Given the description of an element on the screen output the (x, y) to click on. 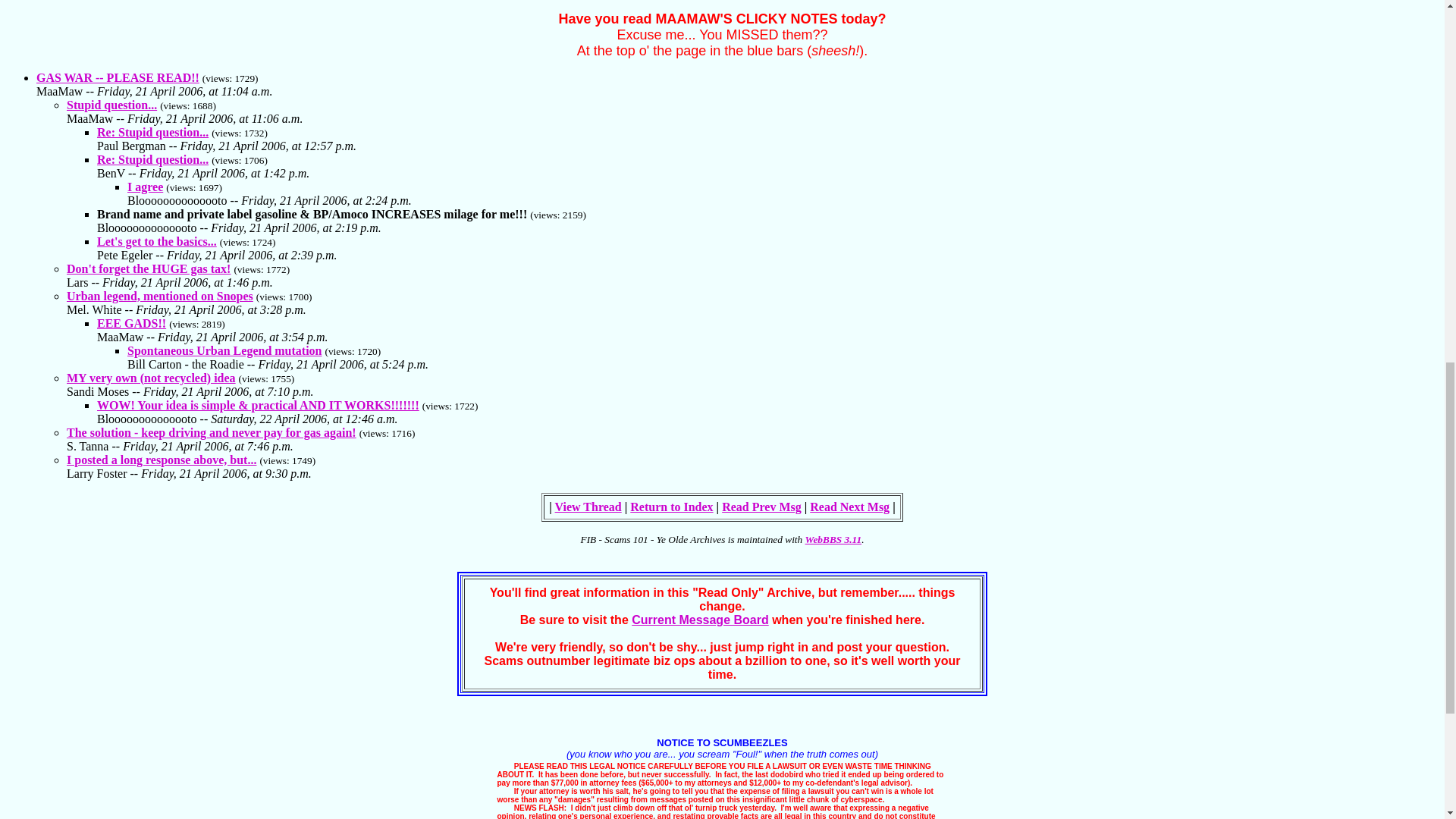
Read Prev Msg (762, 506)
Let's get to the basics... (156, 241)
Spontaneous Urban Legend mutation (224, 350)
Re: Stupid question... (152, 159)
Stupid question... (111, 104)
I posted a long response above, but... (161, 459)
EEE GADS!! (131, 323)
Read Next Msg (849, 506)
The solution - keep driving and never pay for gas again! (211, 431)
GAS WAR -- PLEASE READ!! (117, 77)
